Given the description of an element on the screen output the (x, y) to click on. 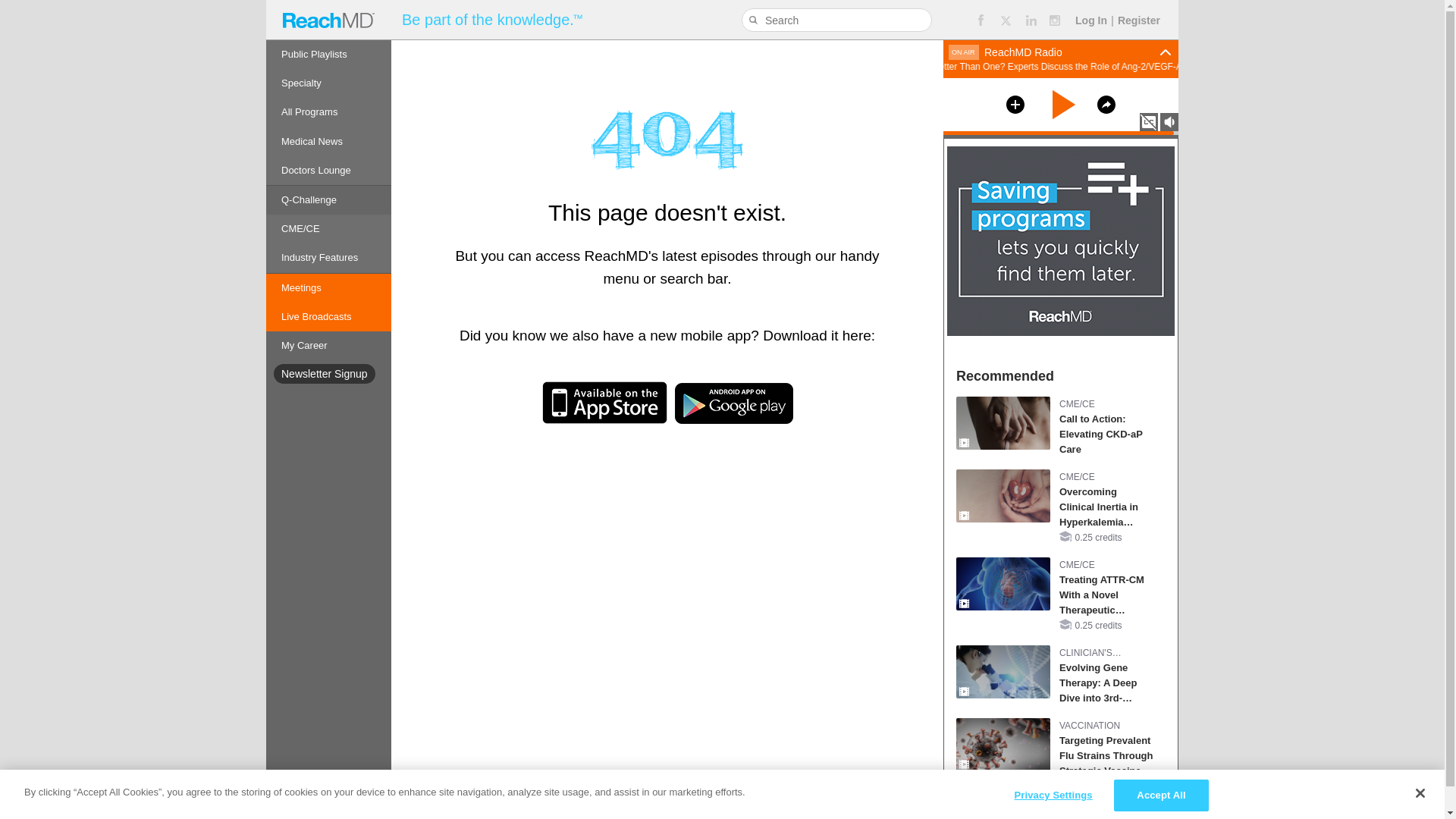
Specialty (328, 82)
All Programs (328, 111)
Register (1139, 20)
Twitter (1004, 19)
Log In (1090, 20)
ReachMD (328, 20)
Public Playlists (328, 54)
Linked in (1030, 19)
Facebook (980, 19)
Search (754, 20)
Instagram (1055, 19)
